Given the description of an element on the screen output the (x, y) to click on. 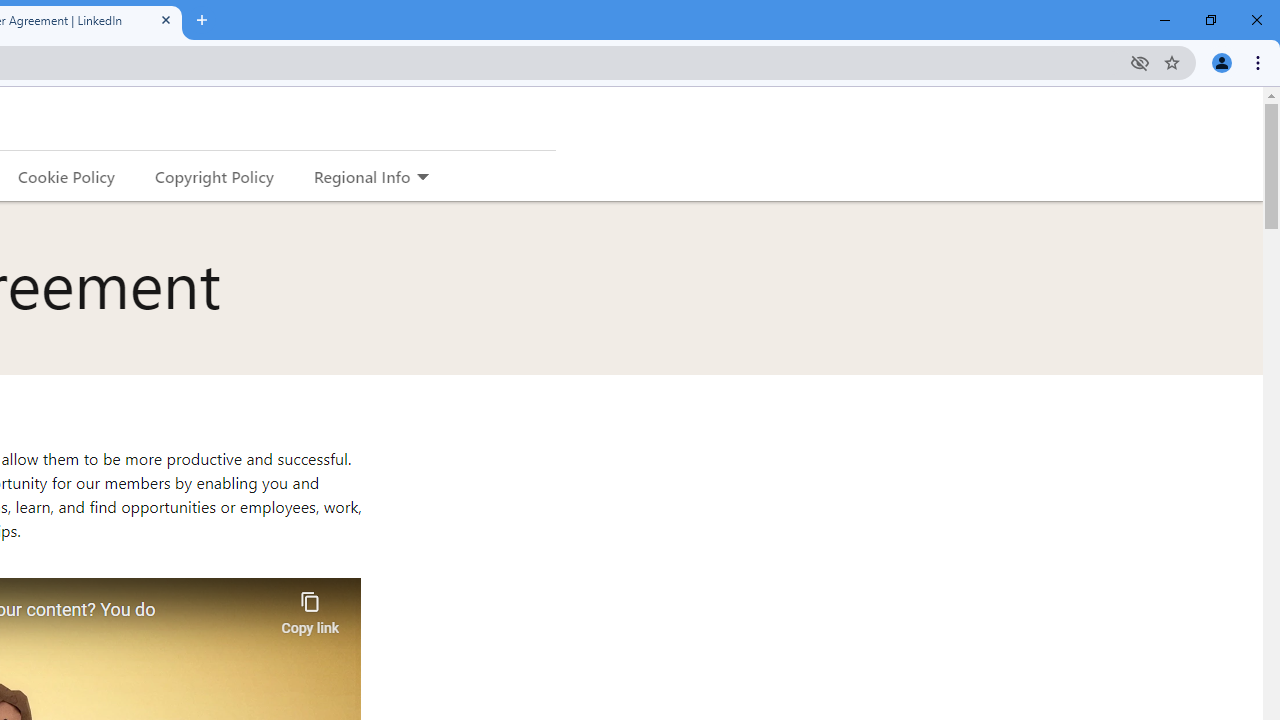
Cookie Policy (66, 176)
Copy link (310, 608)
Expand to show more links for Regional Info (422, 178)
Regional Info (361, 176)
Copyright Policy (213, 176)
